Given the description of an element on the screen output the (x, y) to click on. 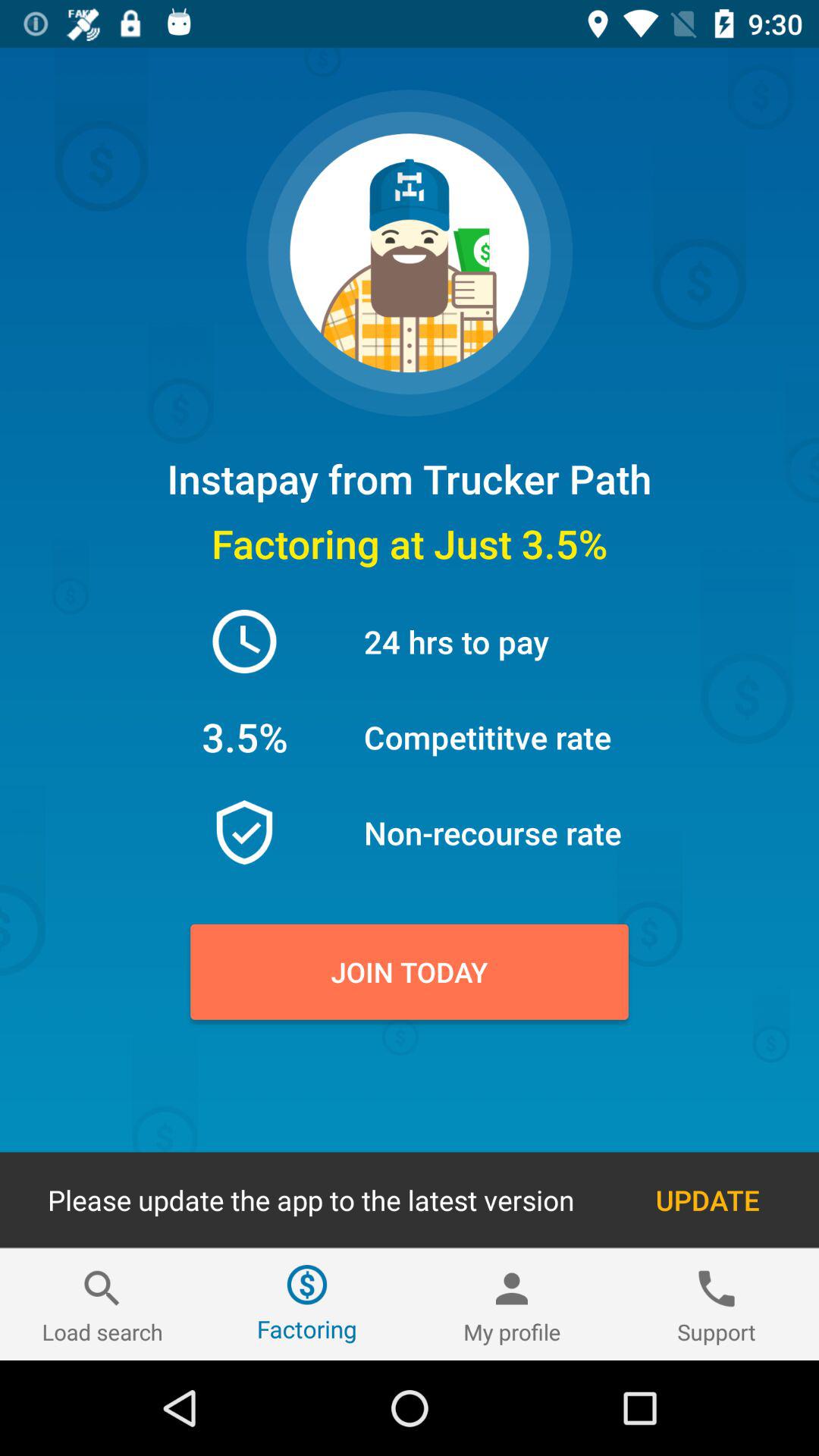
turn on icon to the left of the support item (511, 1304)
